Given the description of an element on the screen output the (x, y) to click on. 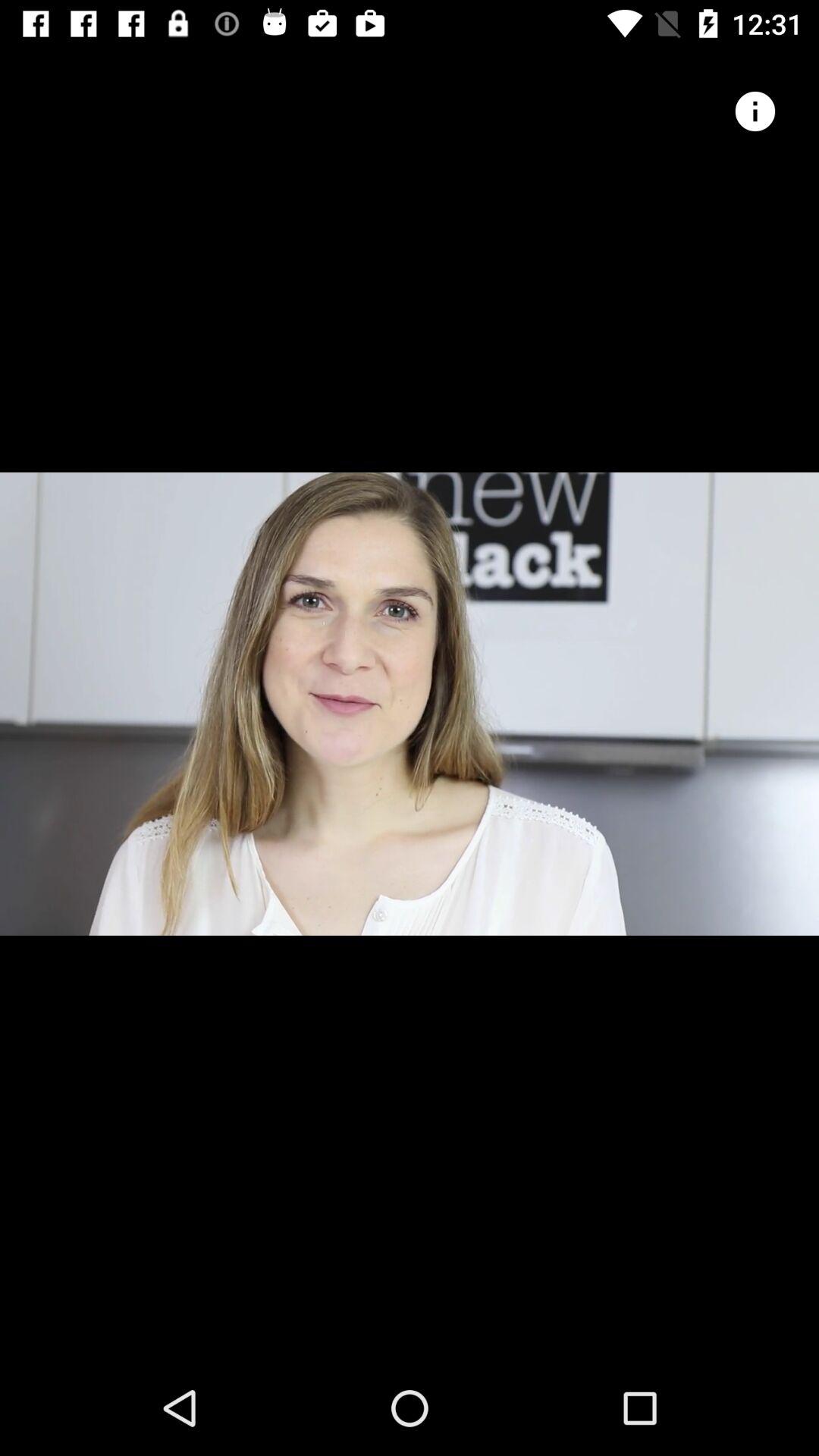
icon button (755, 111)
